Given the description of an element on the screen output the (x, y) to click on. 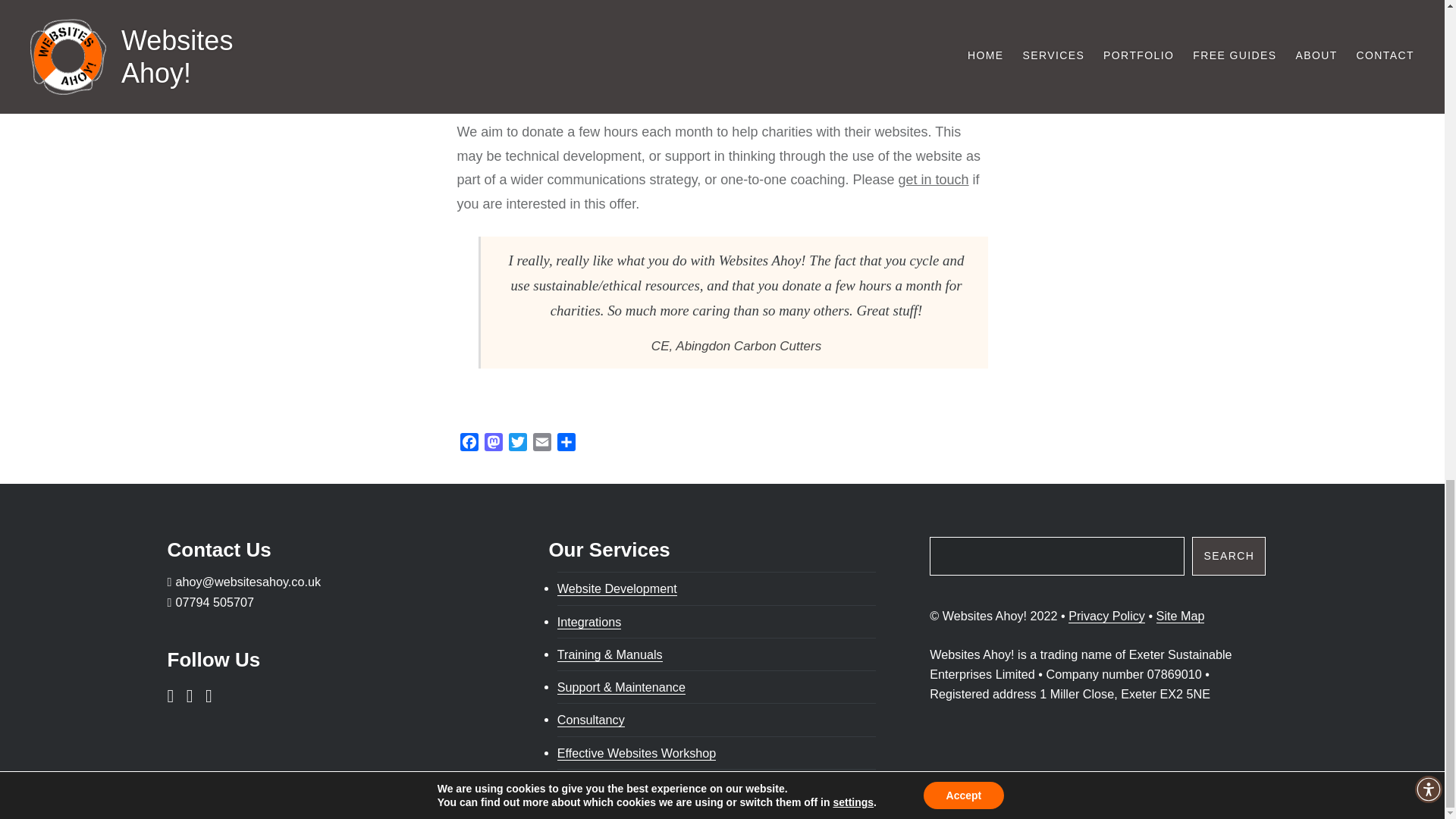
Mastodon (492, 444)
Mastodon (492, 444)
SEARCH (1228, 556)
Twitter (517, 444)
Facebook (468, 444)
Facebook (468, 444)
Integrations (589, 622)
Privacy Policy (1106, 616)
Effective Websites Workshop (636, 753)
Website Development (617, 588)
